Given the description of an element on the screen output the (x, y) to click on. 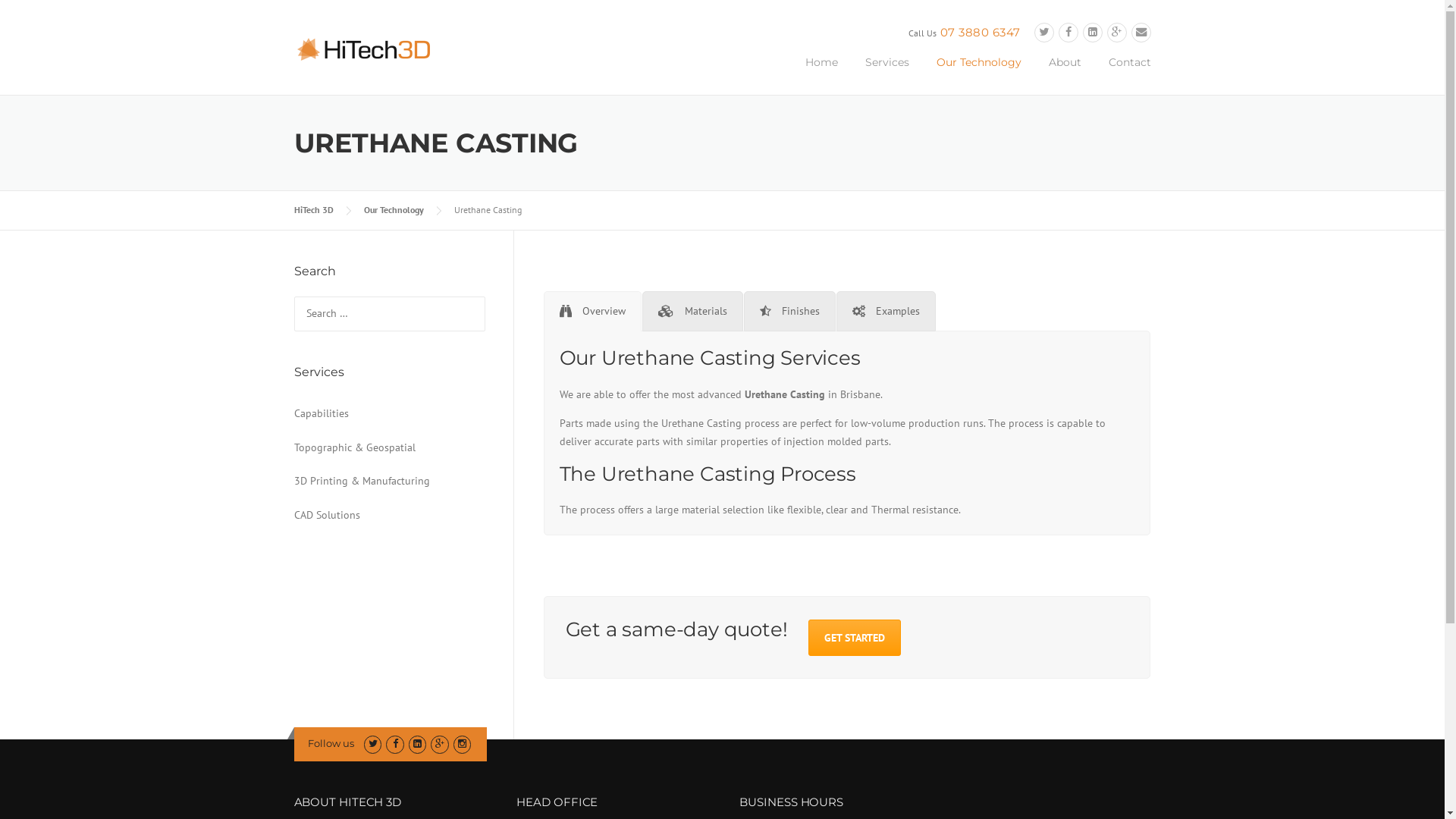
Email Element type: hover (1141, 31)
Google Plus Element type: hover (439, 743)
Our Technology Element type: text (393, 209)
HiTech 3D Element type: hover (369, 47)
Materials Element type: text (691, 311)
GET STARTED Element type: text (854, 637)
CAD Solutions Element type: text (388, 515)
Google Plus Element type: hover (1116, 31)
Instagram Element type: hover (461, 743)
07 3880 6347 Element type: text (980, 32)
Topographic & Geospatial Element type: text (388, 448)
Facebook Element type: hover (394, 743)
Skip to content Element type: text (35, 9)
Twitter Element type: hover (372, 743)
Finishes Element type: text (788, 311)
Facebook Element type: hover (1068, 31)
Overview Element type: text (591, 311)
Contact Element type: text (1123, 73)
3D Printing & Manufacturing Element type: text (388, 481)
Linkedin Element type: hover (1092, 31)
Capabilities Element type: text (388, 414)
Search Element type: text (36, 17)
Linkedin Element type: hover (417, 743)
Our Technology Element type: text (978, 73)
About Element type: text (1064, 73)
Examples Element type: text (885, 311)
Services Element type: text (886, 73)
Twitter Element type: hover (1044, 31)
Search for: Element type: hover (390, 313)
HiTech 3D Element type: text (313, 209)
Home Element type: text (821, 73)
